Given the description of an element on the screen output the (x, y) to click on. 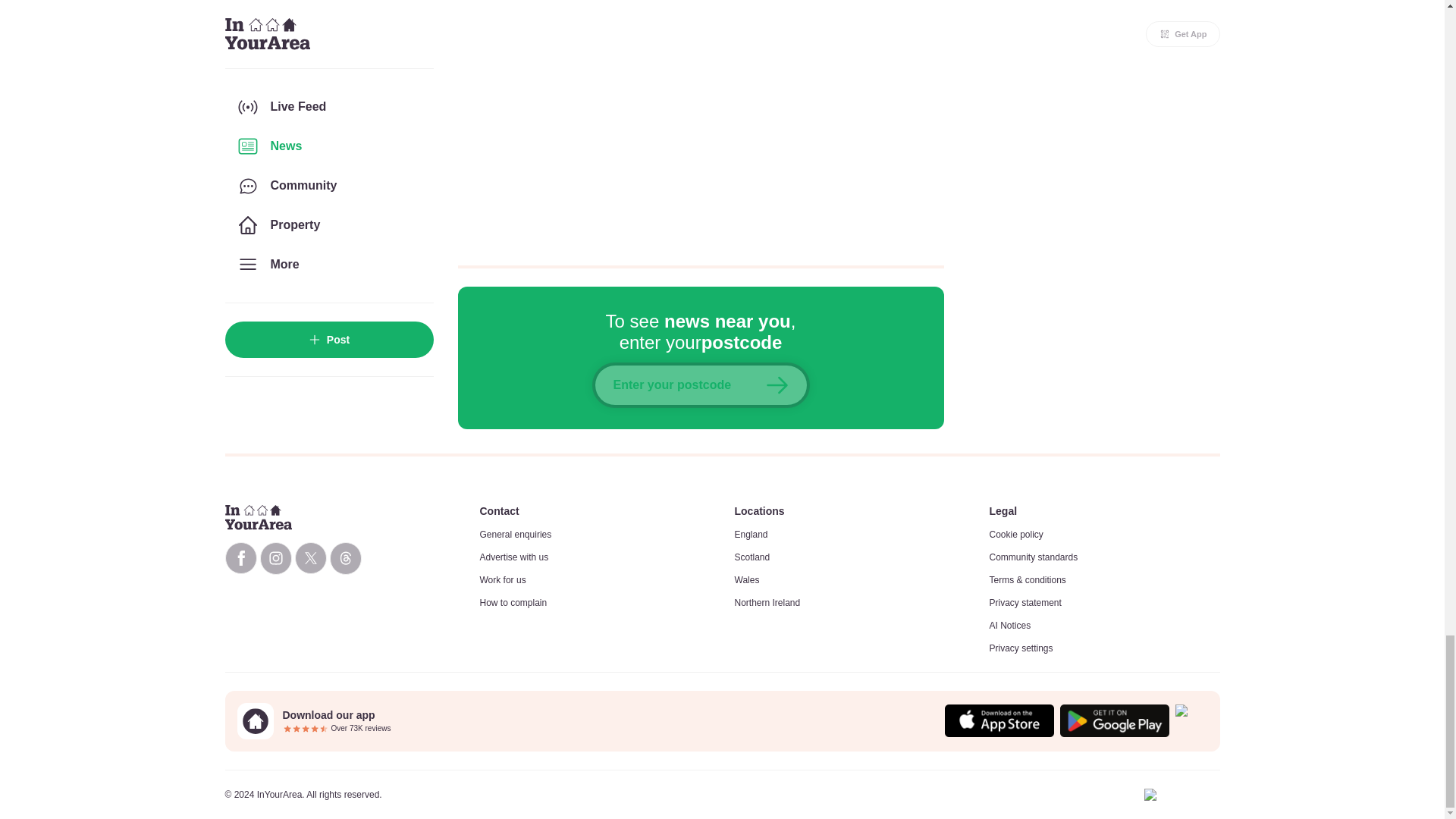
comments (701, 122)
InYourArea X (310, 558)
InYourArea Facebook (240, 558)
InYourArea Instagram (275, 558)
InYourArea Threads (345, 558)
